Given the description of an element on the screen output the (x, y) to click on. 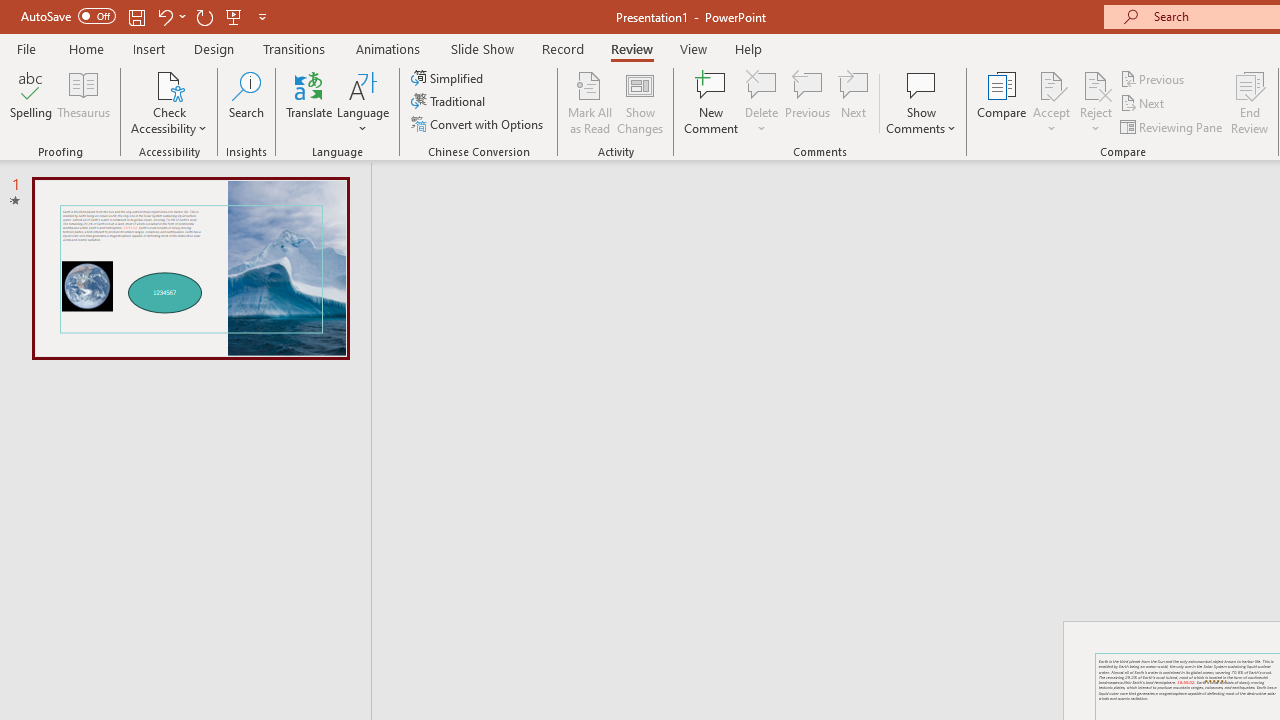
Traditional (449, 101)
Convert with Options... (479, 124)
Language (363, 102)
Accept (1051, 102)
Show Comments (921, 102)
End Review (1249, 102)
Spelling... (31, 102)
